Given the description of an element on the screen output the (x, y) to click on. 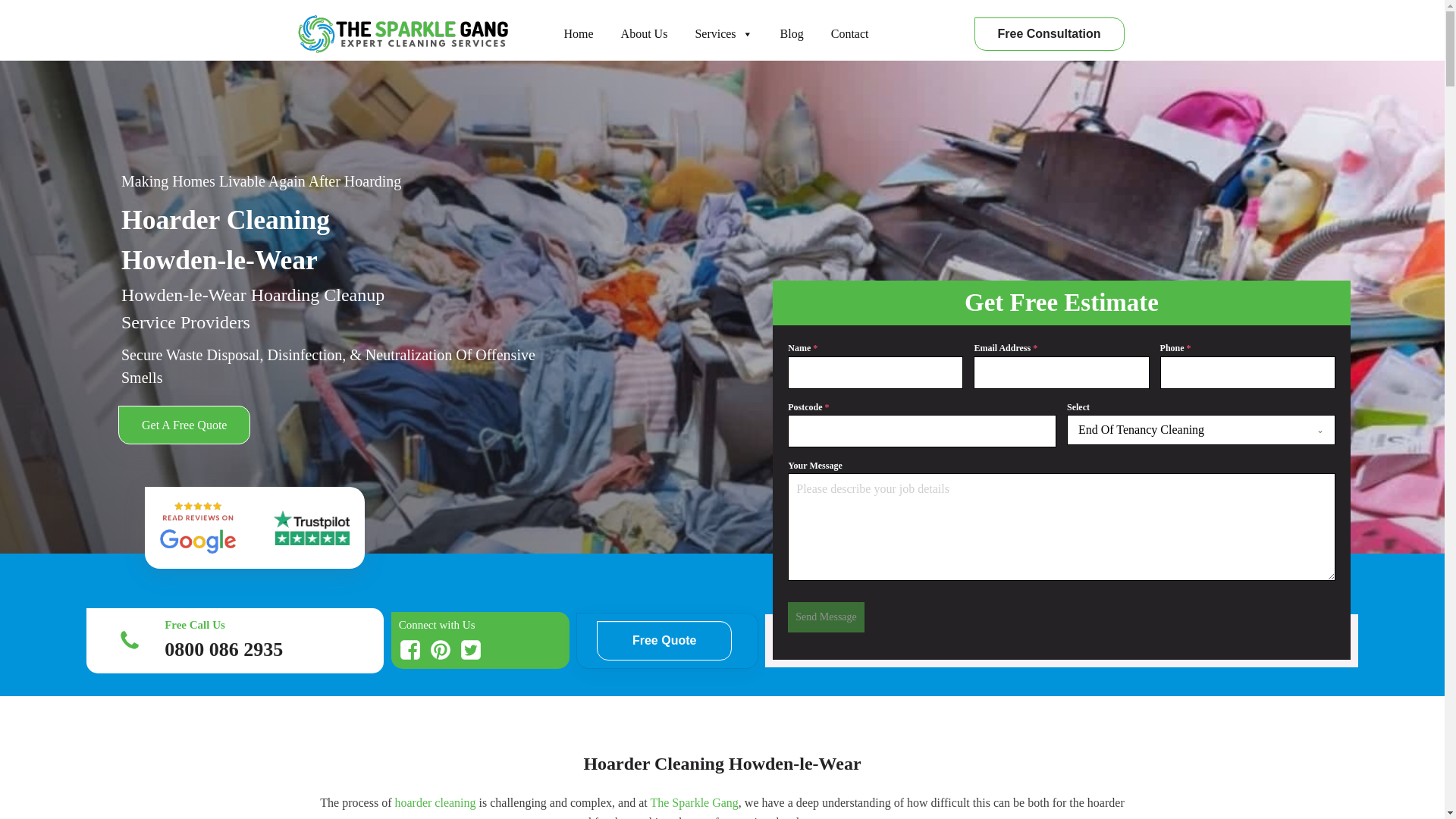
0800 086 2935 (223, 649)
Blog (791, 33)
Get A Free Quote (183, 425)
Contact (849, 33)
Services (723, 33)
The Sparkle Gang (693, 802)
End Of Tenancy Cleaning (1186, 429)
Home (578, 33)
Free Quote (664, 640)
Free Consultation (1049, 33)
hoarder cleaning (435, 802)
Send Message (825, 616)
About Us (644, 33)
